Given the description of an element on the screen output the (x, y) to click on. 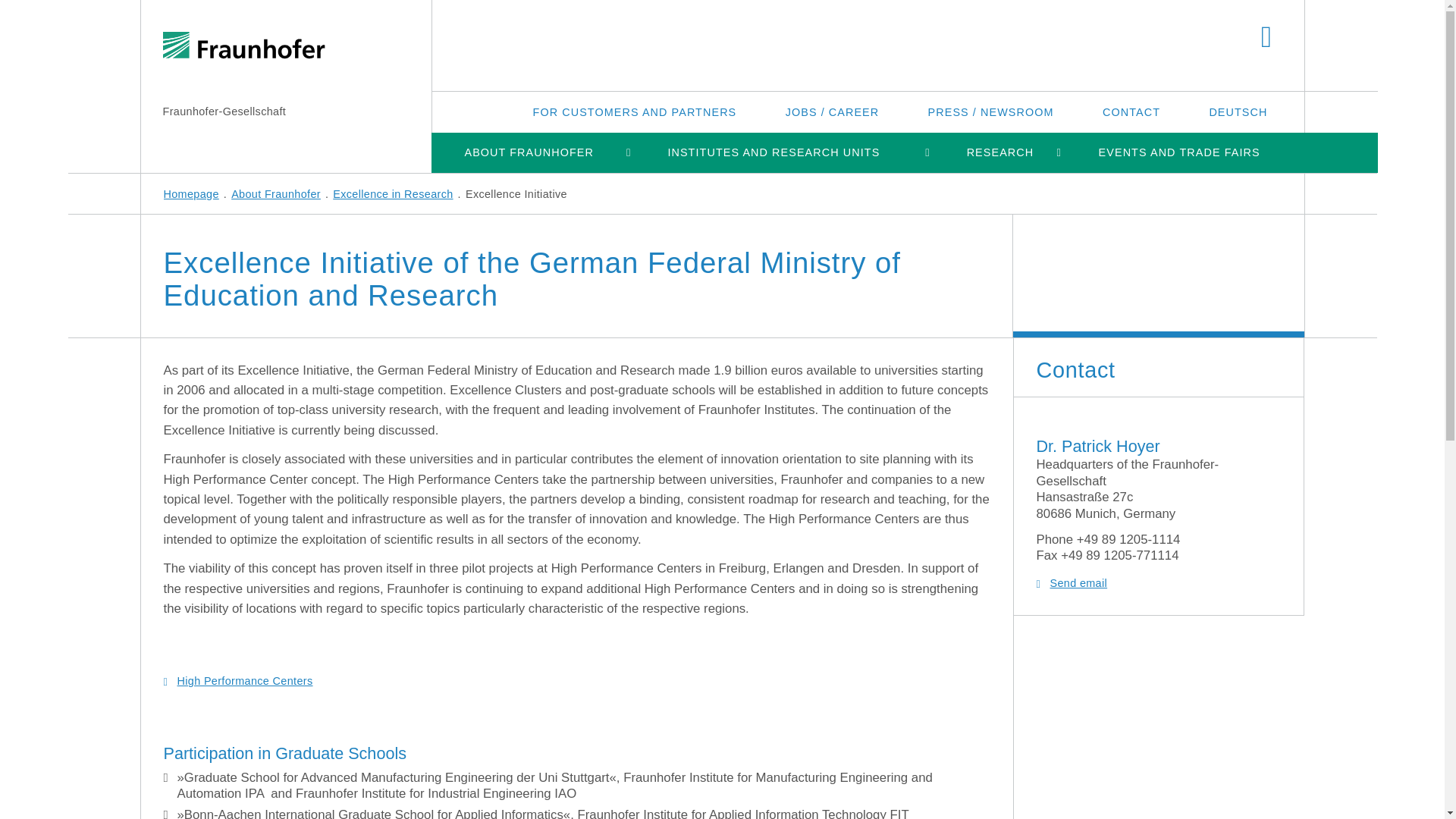
Fraunhofer-Gesellschaft (223, 111)
DEUTSCH (1238, 111)
SEARCH (1266, 37)
FOR CUSTOMERS AND PARTNERS (635, 111)
ABOUT FRAUNHOFER (528, 151)
CONTACT (1131, 111)
